Given the description of an element on the screen output the (x, y) to click on. 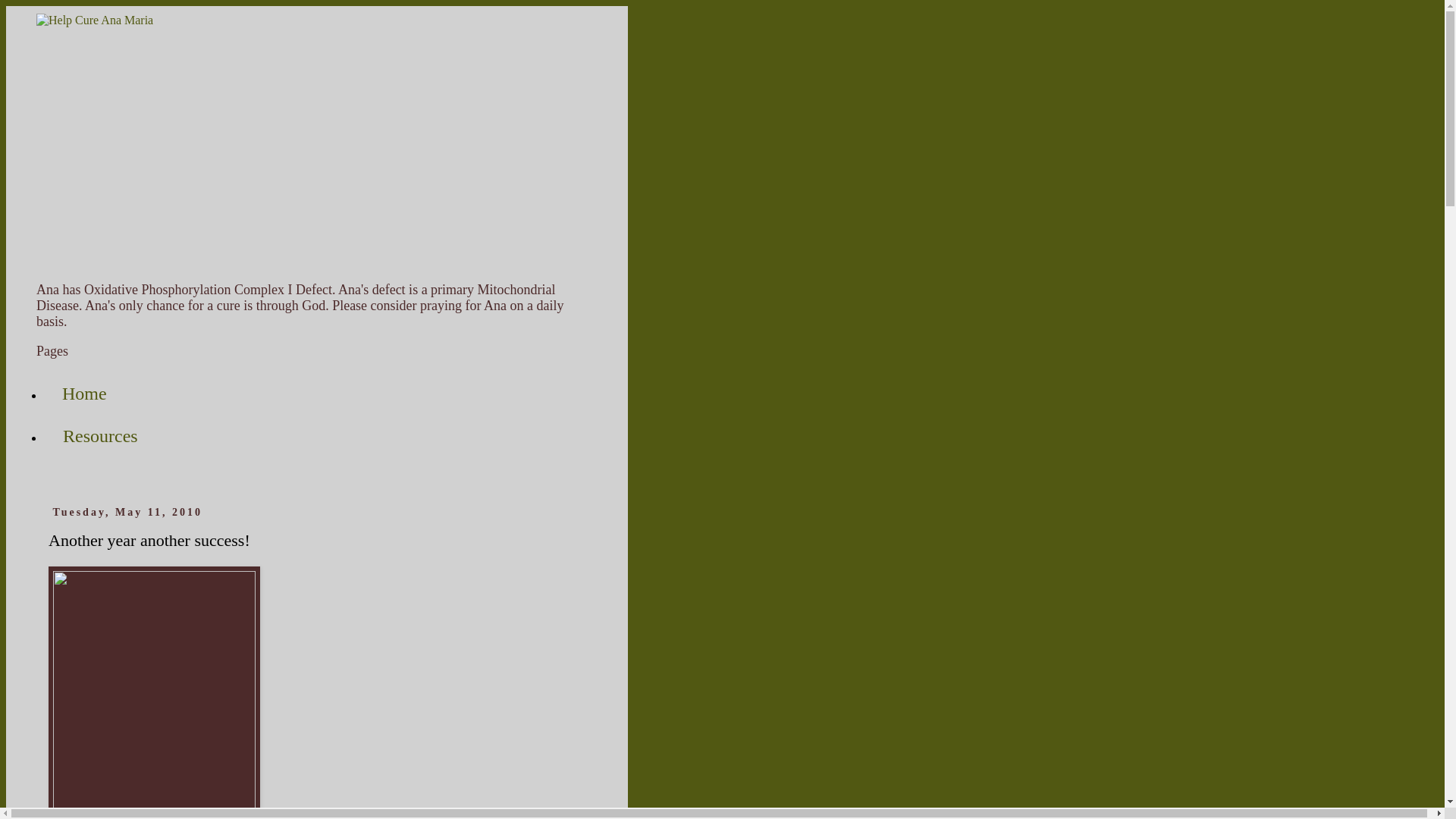
Resources (100, 436)
Home (84, 394)
